Given the description of an element on the screen output the (x, y) to click on. 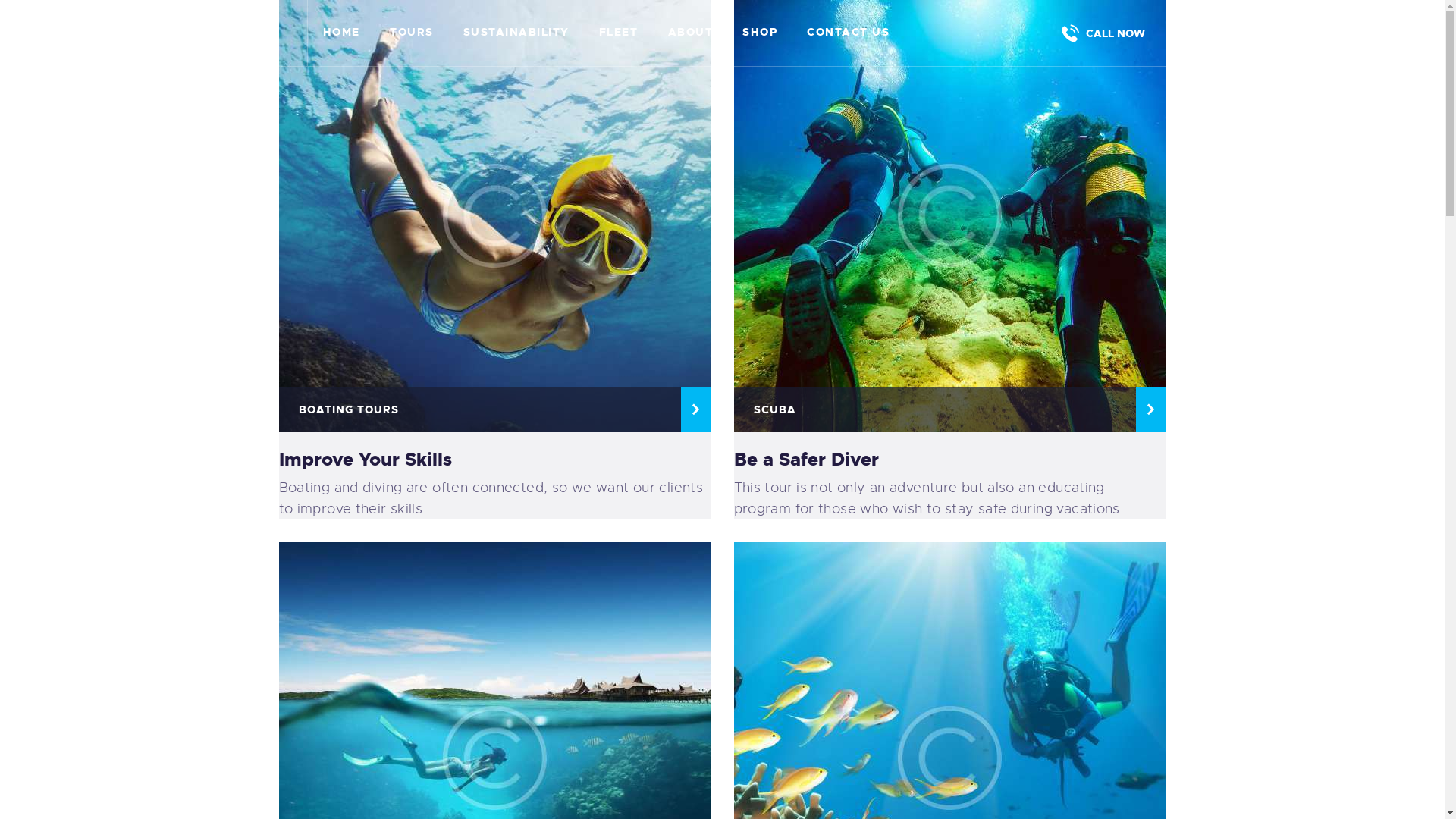
SUSTAINABILITY Element type: text (515, 32)
Be a Safer Diver Element type: text (946, 459)
CONTACT US Element type: text (848, 32)
ABOUT Element type: text (690, 32)
CALL NOW Element type: text (1098, 32)
SHOP Element type: text (760, 32)
SCUBA Element type: text (950, 409)
BOATING TOURS Element type: text (495, 409)
Improve Your Skills Element type: text (491, 459)
FLEET Element type: text (617, 32)
TOURS Element type: text (411, 32)
HOME Element type: text (340, 32)
